Given the description of an element on the screen output the (x, y) to click on. 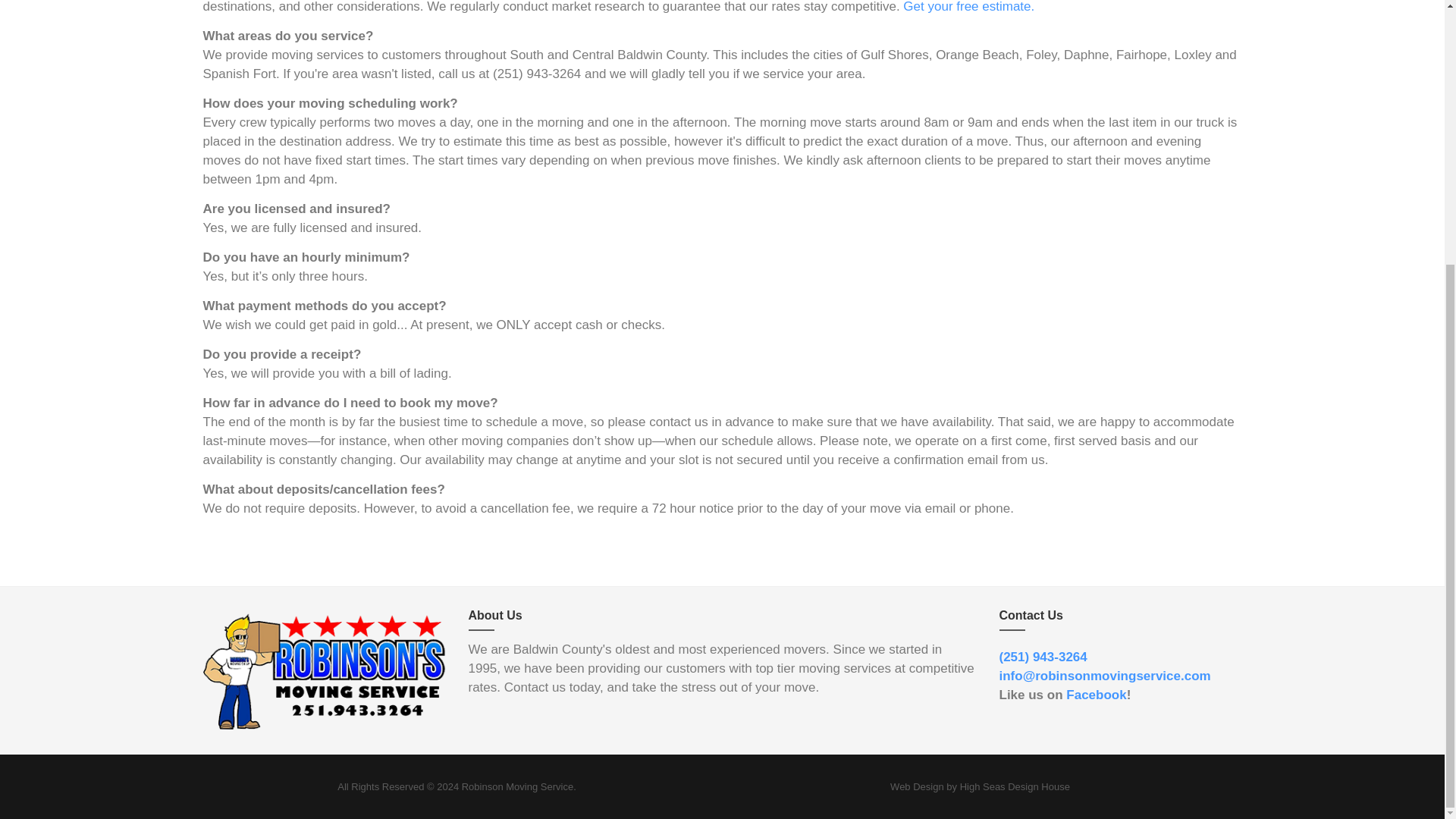
Web Design by High Seas Design House (979, 786)
Get your free estimate. (967, 6)
Facebook (1095, 694)
